Given the description of an element on the screen output the (x, y) to click on. 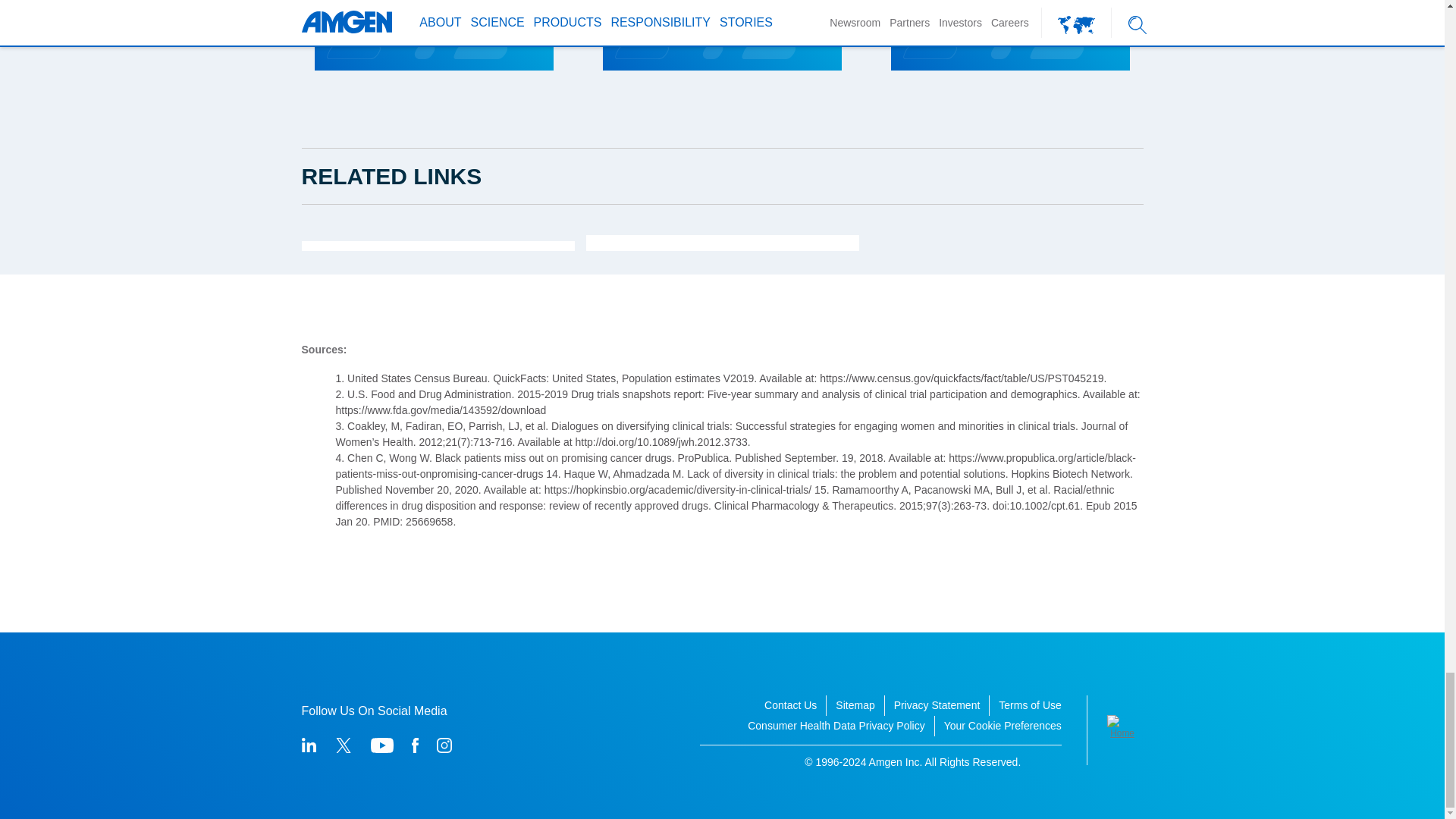
5 Important Steps for Advancing Health Equity (987, 3)
Logo (1124, 727)
